Given the description of an element on the screen output the (x, y) to click on. 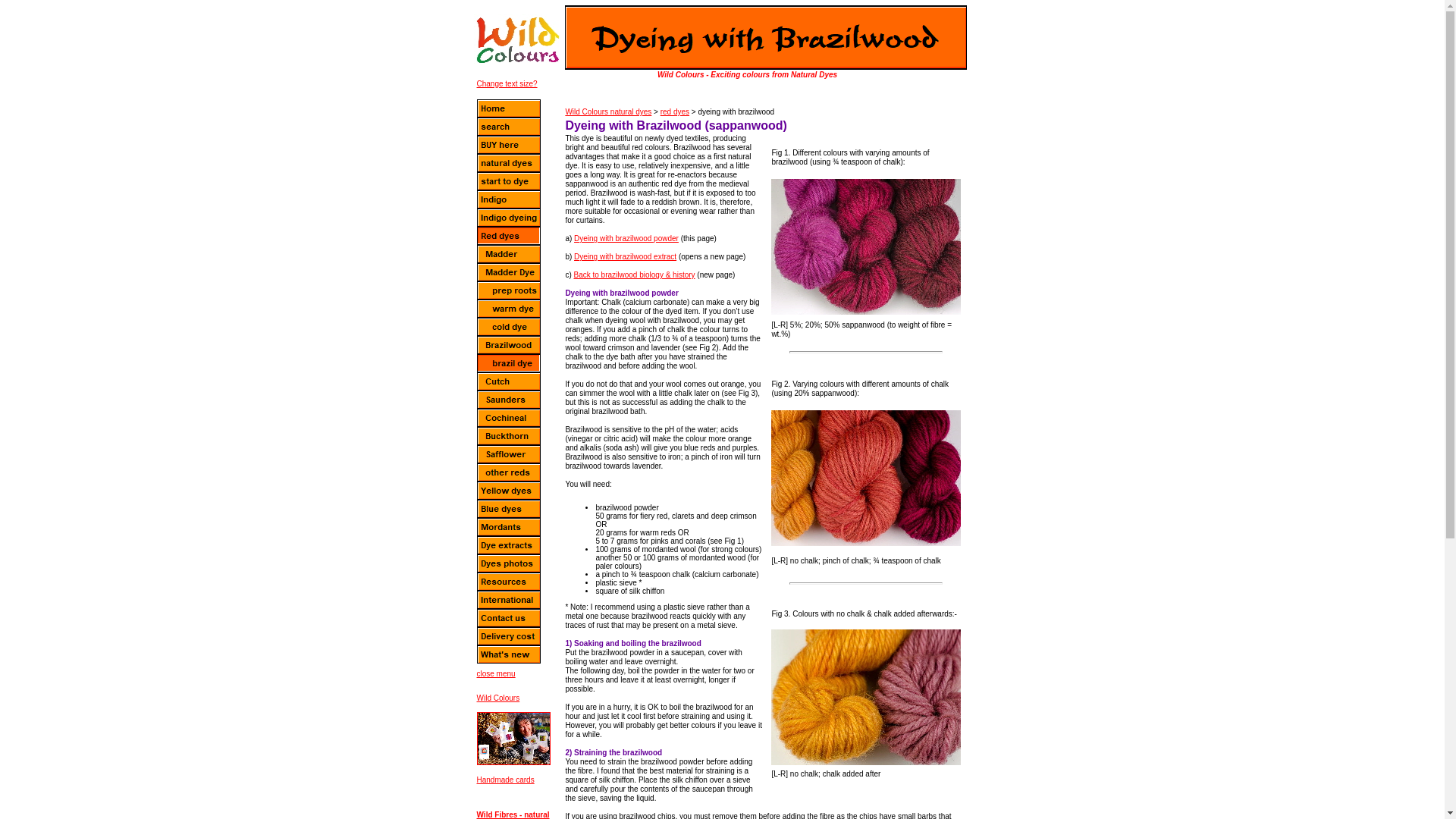
brazilwood (508, 344)
Wild Colours (497, 697)
Indigo dyeing (508, 217)
madder (508, 253)
cochineal (508, 417)
Home (508, 108)
Change text size? (506, 83)
Wild Colours natural dyes home (516, 39)
Dyeing with Buckthorn (508, 435)
     brazil dye (508, 362)
